Given the description of an element on the screen output the (x, y) to click on. 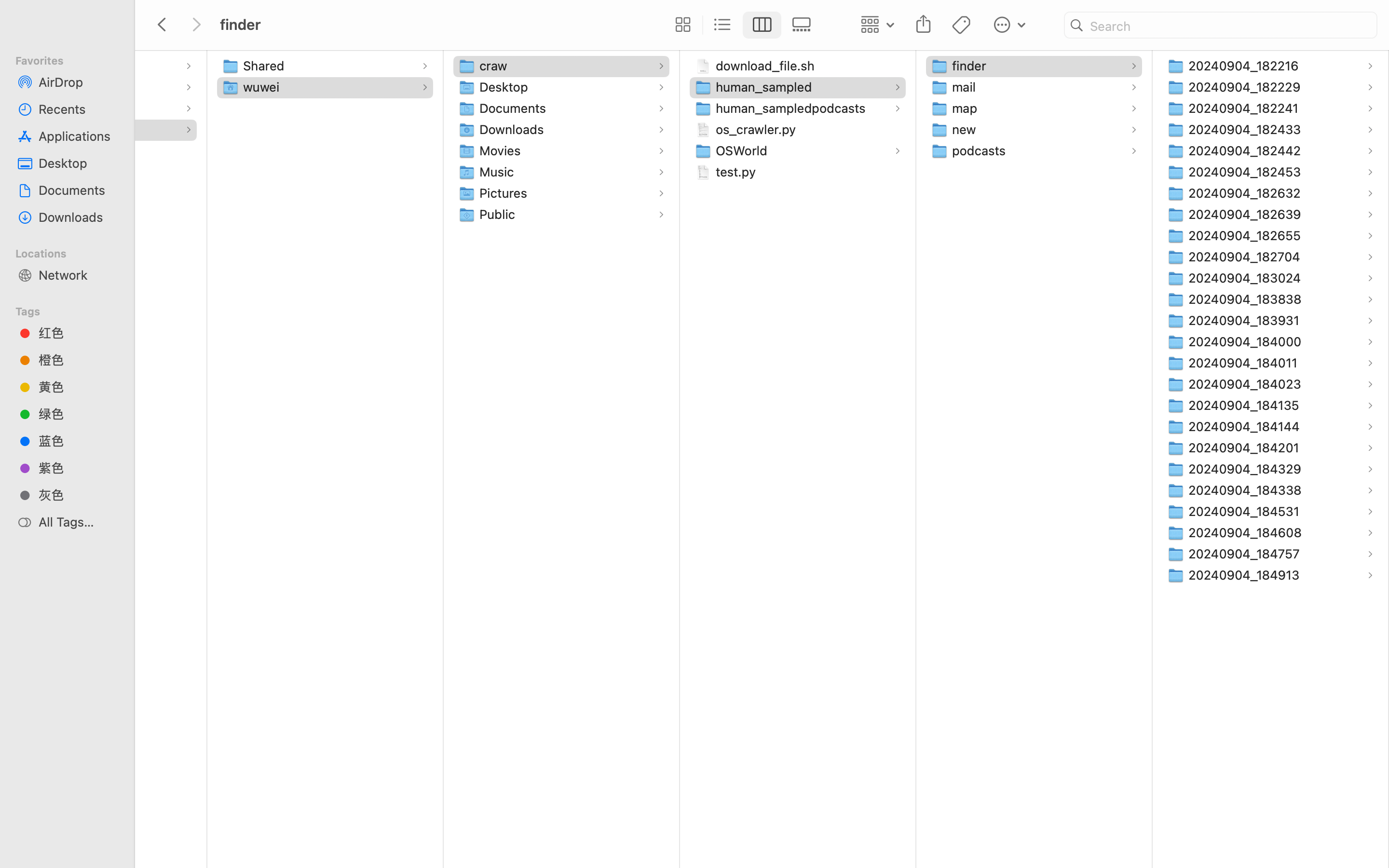
20240904_184531 Element type: AXTextField (1245, 510)
20240904_183931 Element type: AXTextField (1246, 319)
Recents Element type: AXStaticText (77, 108)
20240904_184000 Element type: AXTextField (1246, 341)
download_file.sh Element type: AXTextField (766, 65)
